Given the description of an element on the screen output the (x, y) to click on. 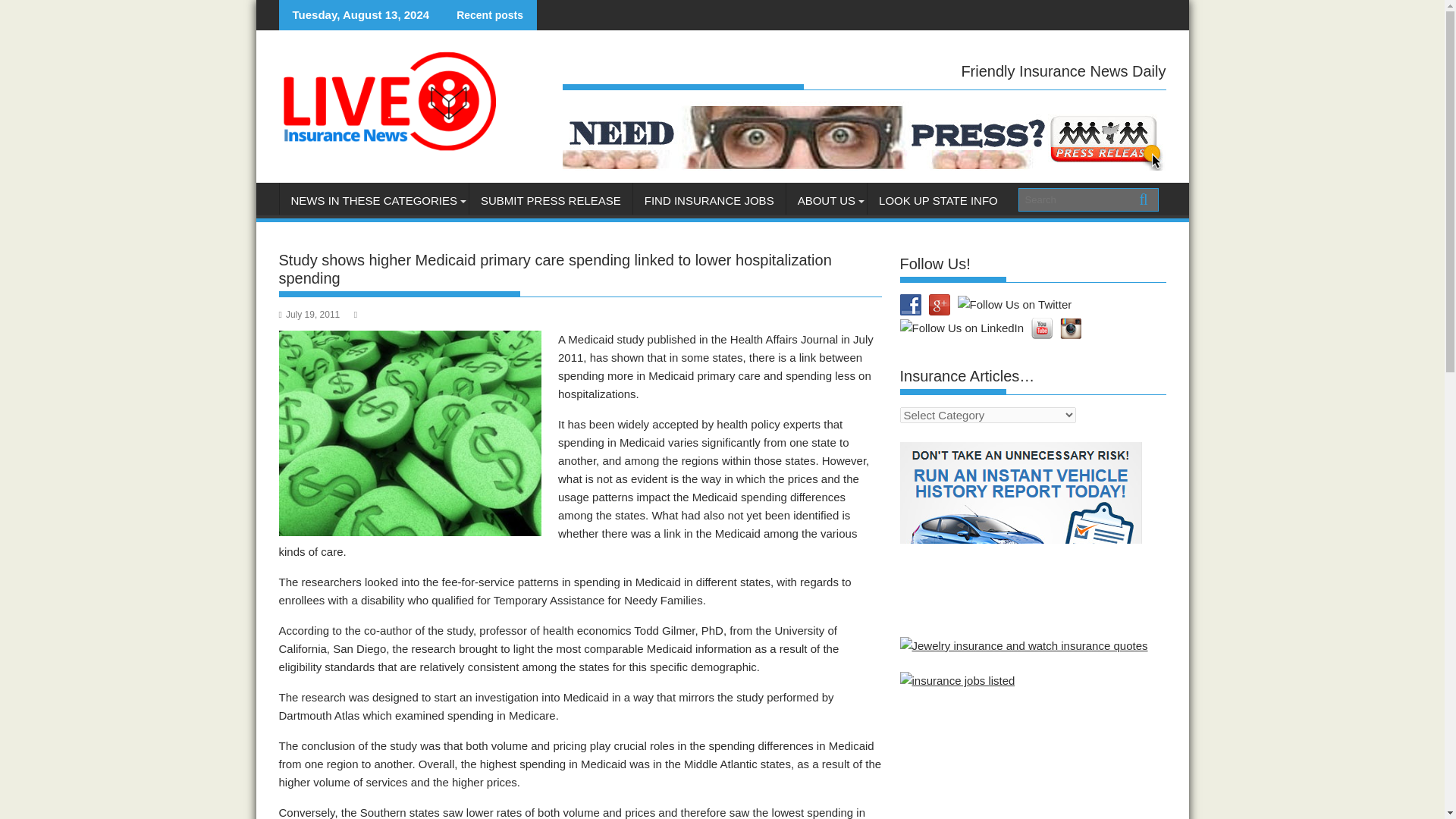
July 19, 2011 (309, 314)
LOOK UP STATE INFO (938, 200)
NEWS IN THESE CATEGORIES (373, 200)
ABOUT US (826, 200)
SUBMIT PRESS RELEASE (549, 200)
FIND INSURANCE JOBS (709, 200)
